Given the description of an element on the screen output the (x, y) to click on. 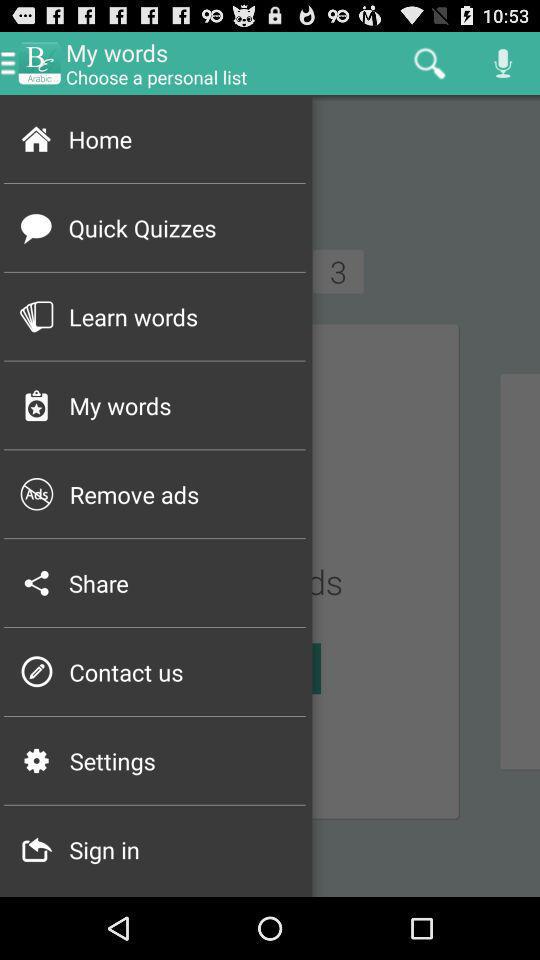
click on the voice recorder button (503, 63)
select the number 3 (338, 271)
move to left of mywords (39, 62)
